Given the description of an element on the screen output the (x, y) to click on. 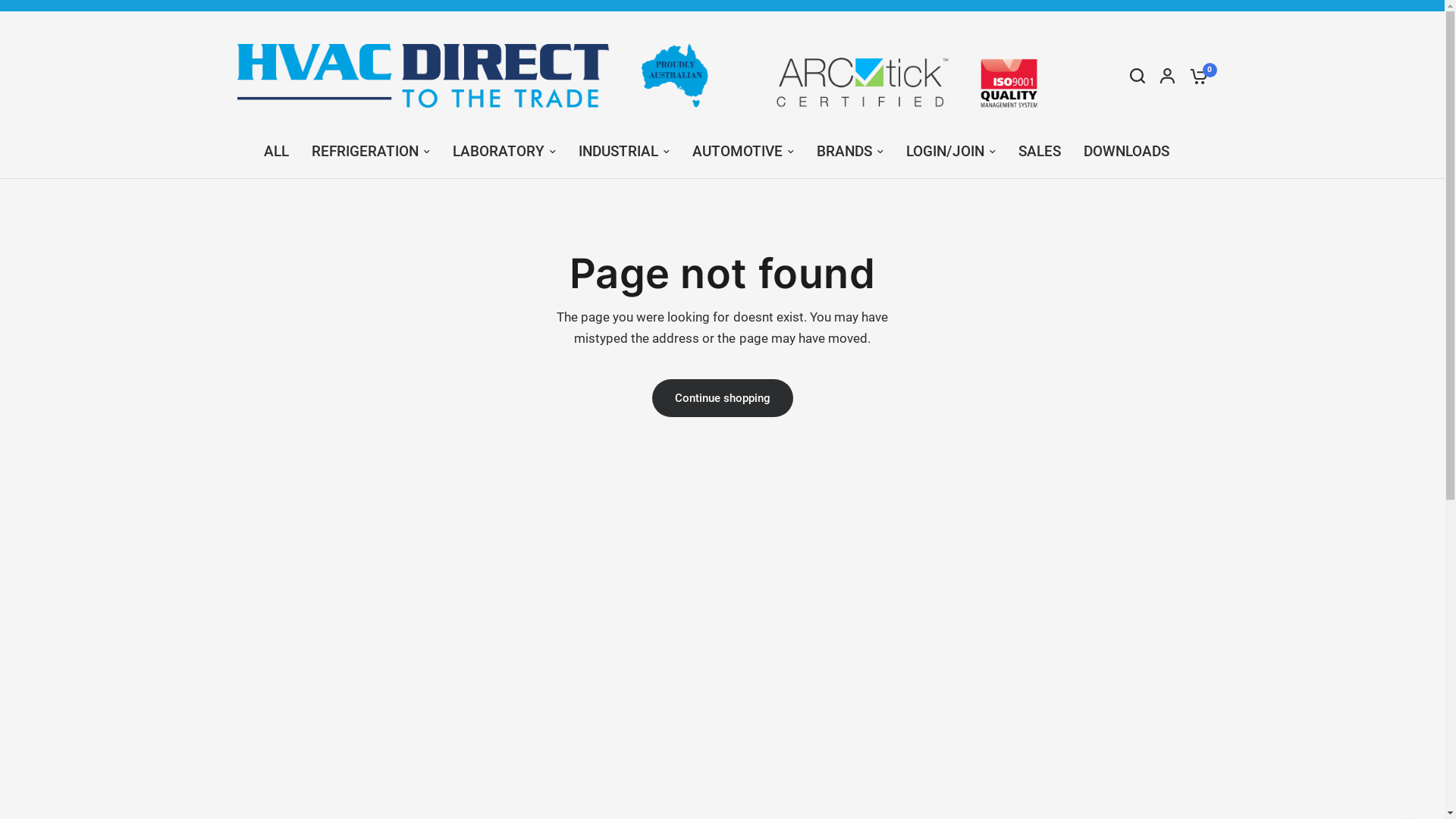
ALL Element type: text (275, 151)
AUTOMOTIVE Element type: text (742, 151)
BRANDS Element type: text (849, 151)
Continue shopping Element type: text (722, 398)
LOGIN/JOIN Element type: text (950, 151)
LABORATORY Element type: text (503, 151)
INDUSTRIAL Element type: text (623, 151)
My Account Element type: hover (1167, 75)
Search Element type: hover (1137, 75)
REFRIGERATION Element type: text (370, 151)
0 Element type: text (1194, 75)
SALES Element type: text (1039, 151)
DOWNLOADS Element type: text (1126, 151)
